Given the description of an element on the screen output the (x, y) to click on. 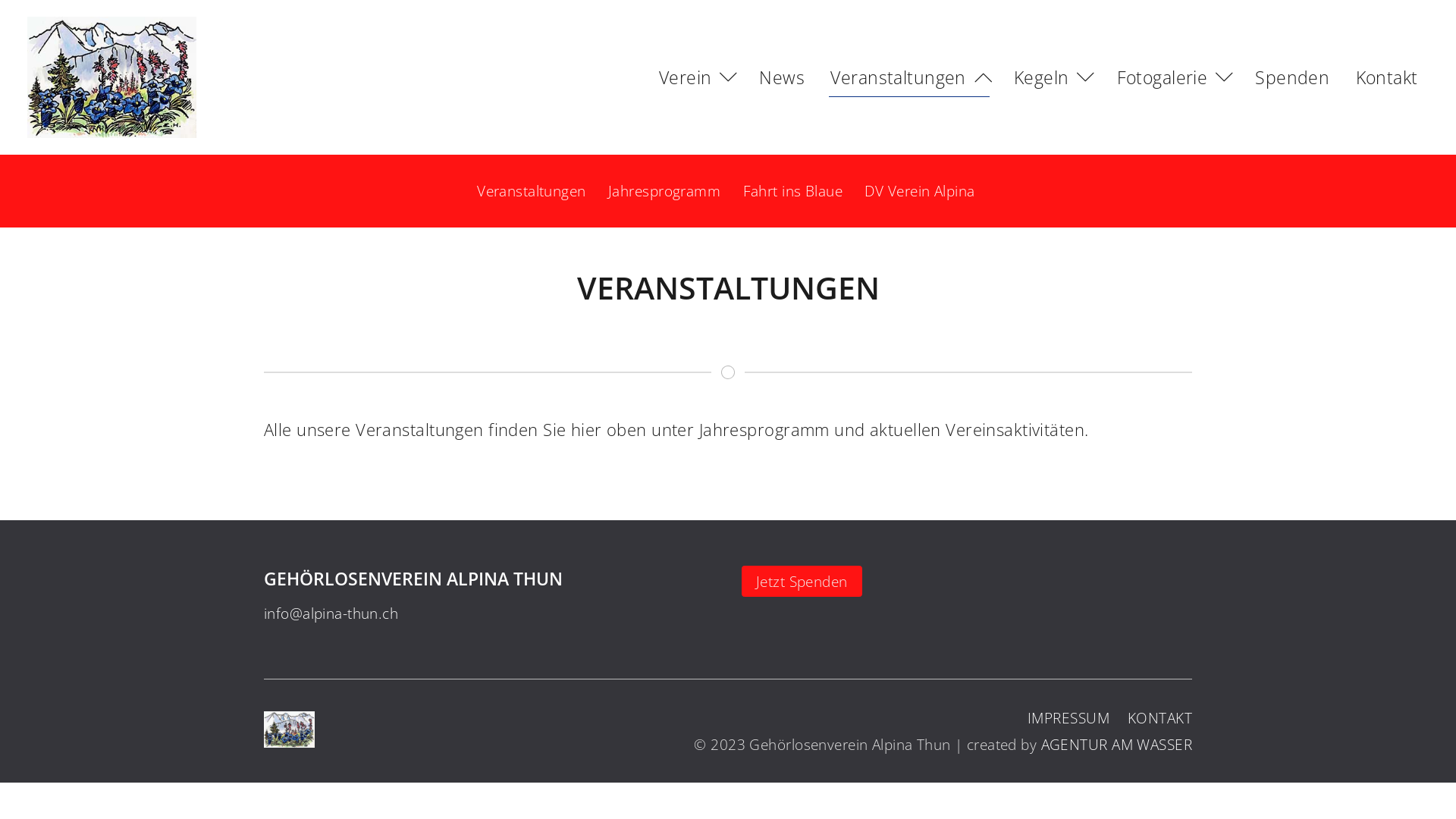
Verein Element type: text (695, 77)
Jahresprogramm Element type: text (664, 190)
Kegeln Element type: text (1052, 77)
Jetzt Spenden Element type: text (801, 580)
Veranstaltungen Element type: text (908, 77)
Kontakt Element type: text (1386, 77)
KONTAKT Element type: text (1159, 717)
info@alpina-thun.ch Element type: text (330, 612)
Fotogalerie Element type: text (1172, 77)
IMPRESSUM Element type: text (1068, 717)
Veranstaltungen Element type: text (530, 190)
Spenden Element type: text (1292, 77)
News Element type: text (781, 77)
AGENTUR AM WASSER Element type: text (1116, 744)
Fahrt ins Blaue Element type: text (792, 190)
DV Verein Alpina Element type: text (919, 190)
